Given the description of an element on the screen output the (x, y) to click on. 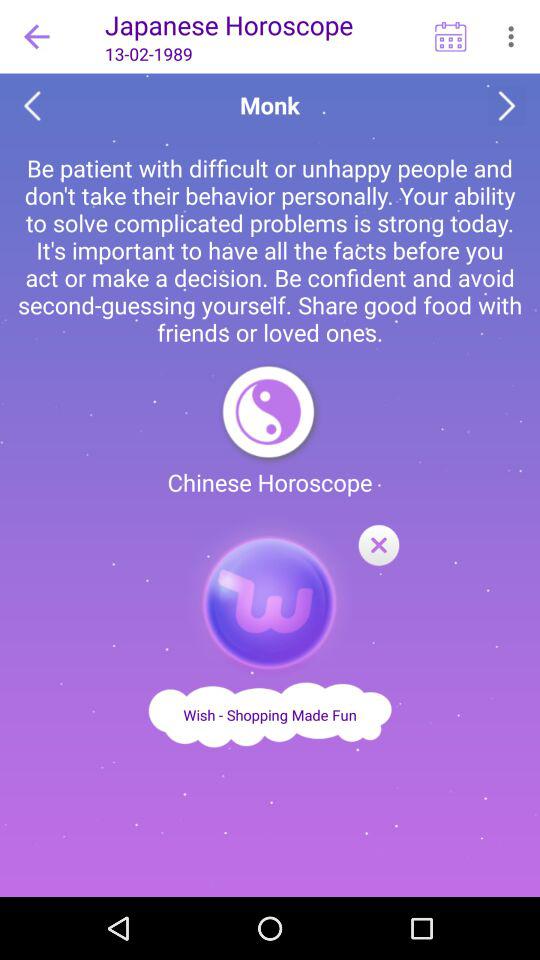
link to wish (269, 714)
